Given the description of an element on the screen output the (x, y) to click on. 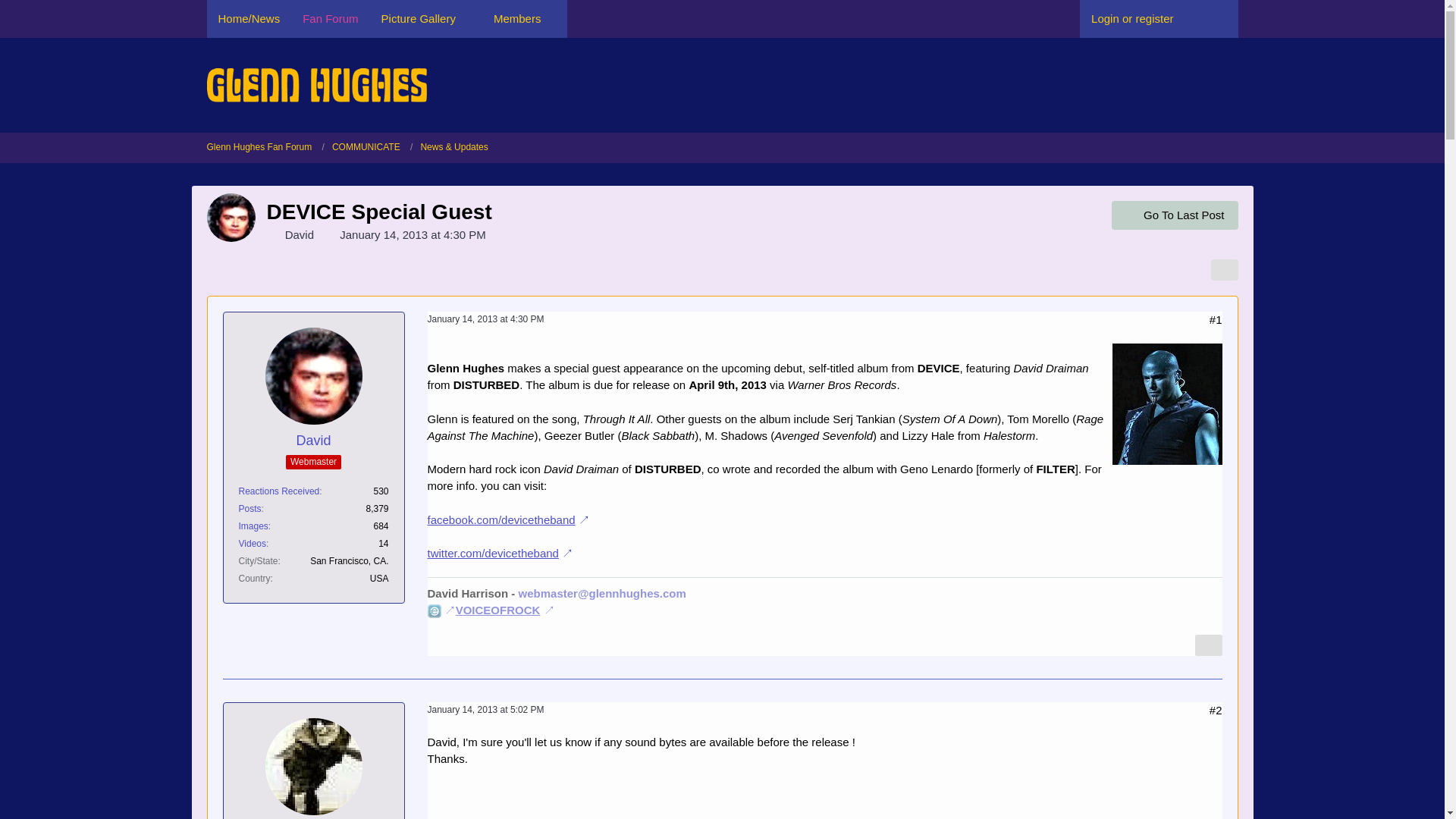
Reactions Received by David (278, 491)
Share (1216, 709)
Reactions Received (278, 491)
Glenn Hughes Fan Forum (264, 147)
Post Editing Has Been Prohibited (1198, 709)
Posts by David (249, 508)
Report Content (1209, 645)
Glenn Hughes Fan Forum (258, 147)
January 14, 2013 at 4:30 PM (486, 318)
Picture Gallery (425, 18)
Fan Forum (330, 18)
COMMUNICATE (365, 147)
Videos by David (251, 543)
January 14, 2013 at 4:30 PM (412, 234)
Posts (249, 508)
